Given the description of an element on the screen output the (x, y) to click on. 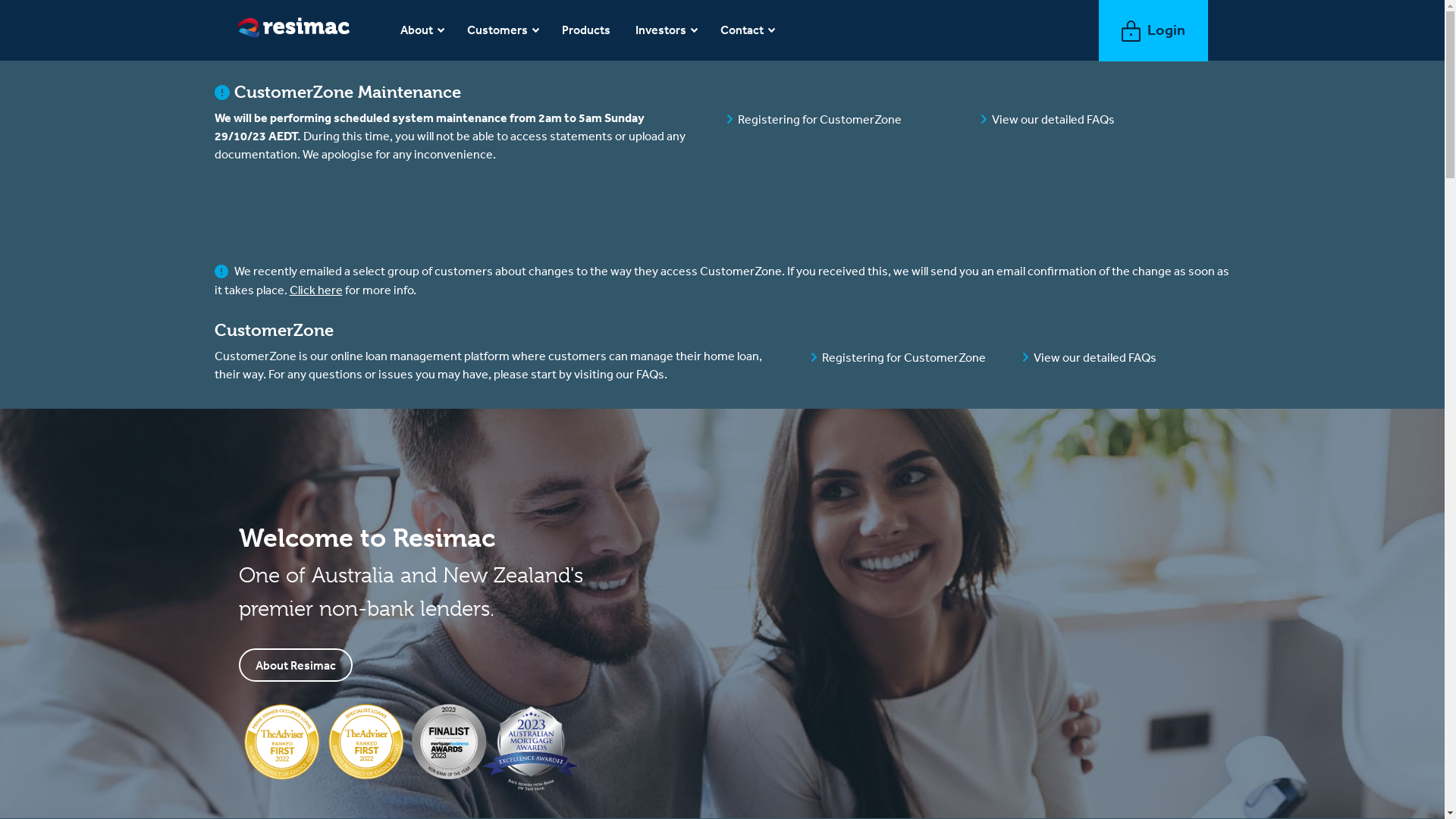
View our detailed FAQs Element type: text (1094, 356)
Registering for CustomerZone Element type: text (818, 118)
Click here Element type: text (315, 289)
About Resimac Element type: text (295, 664)
Investors Element type: text (666, 30)
Customers Element type: text (503, 30)
Products Element type: text (586, 30)
Contact Element type: text (747, 30)
About Element type: text (422, 30)
View our detailed FAQs Element type: text (1052, 118)
Registering for CustomerZone Element type: text (903, 356)
